Given the description of an element on the screen output the (x, y) to click on. 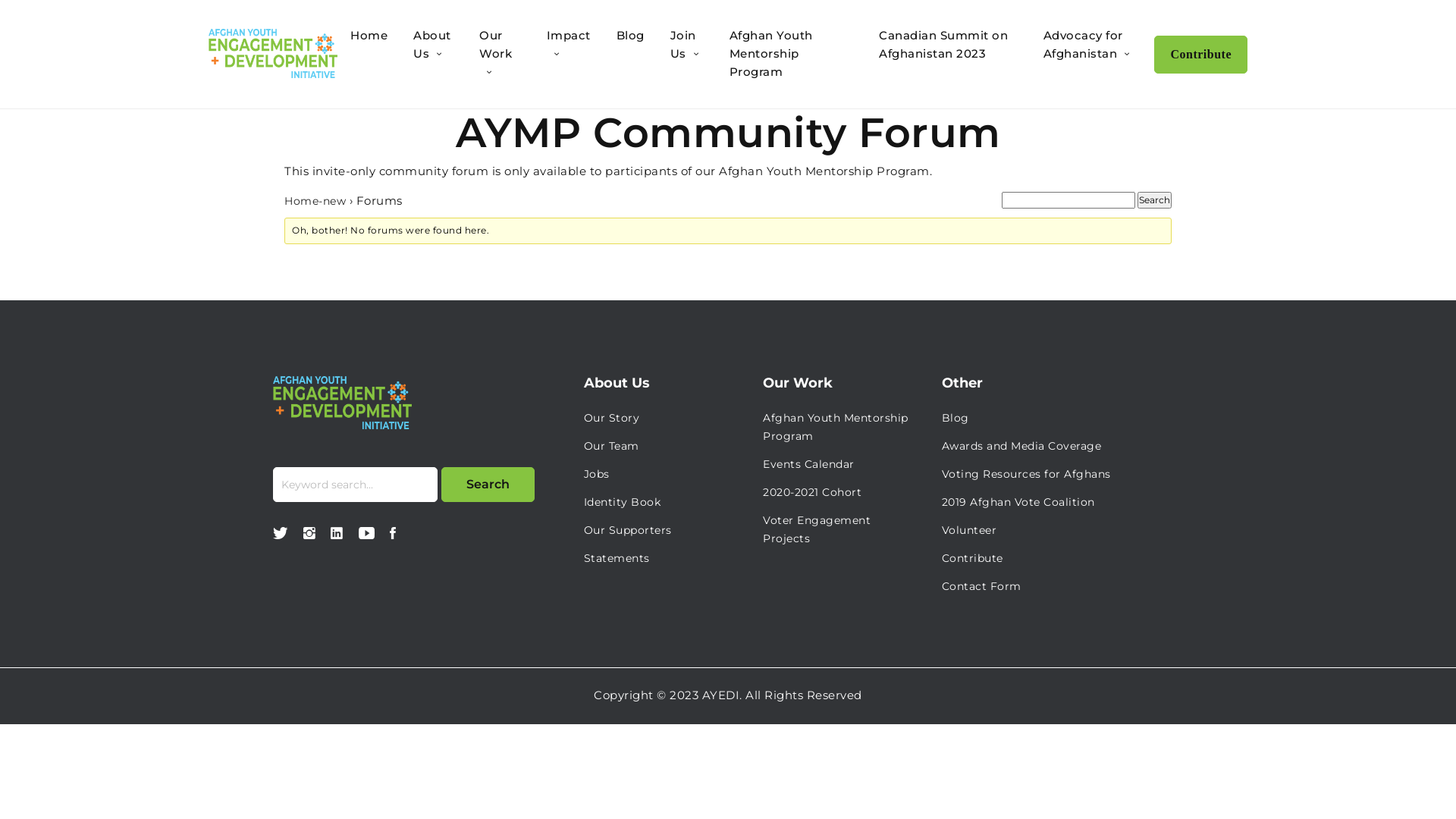
Volunteer Element type: text (969, 529)
Afghan Youth Mentorship Program Element type: text (835, 426)
Our Team Element type: text (611, 445)
About Us Element type: text (432, 44)
Awards and Media Coverage Element type: text (1021, 445)
Identity Book Element type: text (622, 501)
Our Work Element type: text (495, 44)
Voter Engagement Projects Element type: text (816, 529)
Search Element type: text (1154, 199)
Our Supporters Element type: text (627, 529)
Events Calendar Element type: text (808, 463)
Search Element type: text (487, 484)
Home-new Element type: text (314, 200)
Statements Element type: text (616, 557)
Blog Element type: text (630, 35)
Voting Resources for Afghans Element type: text (1025, 473)
2020-2021 Cohort Element type: text (811, 491)
Contribute Element type: text (1200, 54)
Contribute Element type: text (972, 557)
Jobs Element type: text (596, 473)
Advocacy for Afghanistan Element type: text (1083, 44)
Canadian Summit on Afghanistan 2023 Element type: text (942, 44)
Join Us Element type: text (683, 44)
Our Story Element type: text (611, 417)
Contact Form Element type: text (981, 586)
2019 Afghan Vote Coalition Element type: text (1018, 501)
Blog Element type: text (955, 417)
Home Element type: text (368, 35)
Afghan Youth Mentorship Program Element type: text (770, 53)
Impact Element type: text (568, 35)
